Given the description of an element on the screen output the (x, y) to click on. 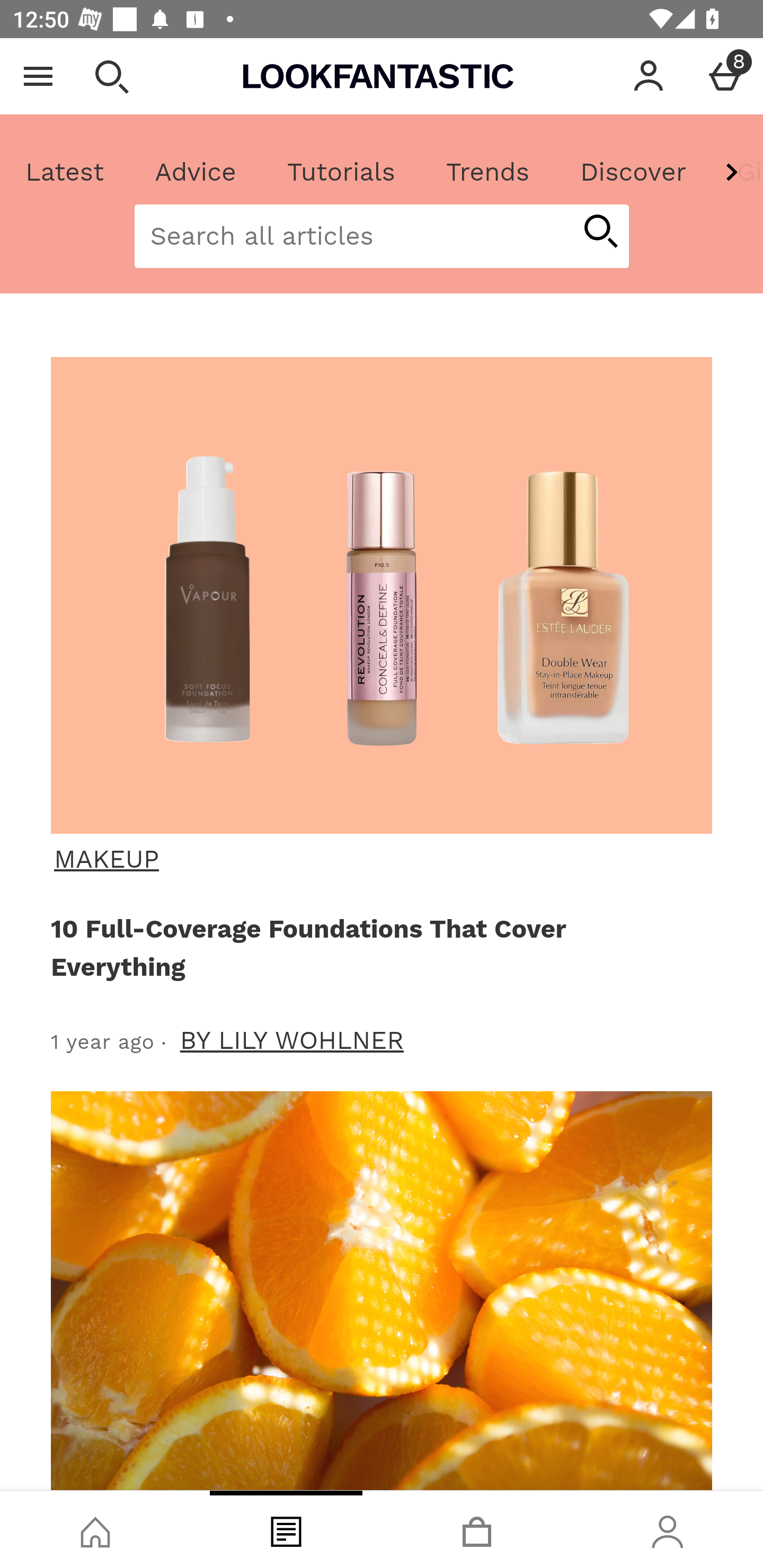
Open Menu (38, 75)
Open search (111, 75)
Account (648, 75)
Basket Menu (724, 75)
Lookfantastic USA Home page (378, 76)
Latest (65, 172)
Advice (195, 172)
Tutorials (340, 172)
Trends (486, 172)
Discover (632, 172)
Gift Guide (736, 172)
start article search (599, 232)
MAKEUP (379, 858)
10 Full-Coverage Foundations That Cover Everything (377, 947)
BY LILY WOHLNER (292, 1040)
Shop, tab, 1 of 4 (95, 1529)
Blog, tab, 2 of 4 (285, 1529)
Basket, tab, 3 of 4 (476, 1529)
Account, tab, 4 of 4 (667, 1529)
